Given the description of an element on the screen output the (x, y) to click on. 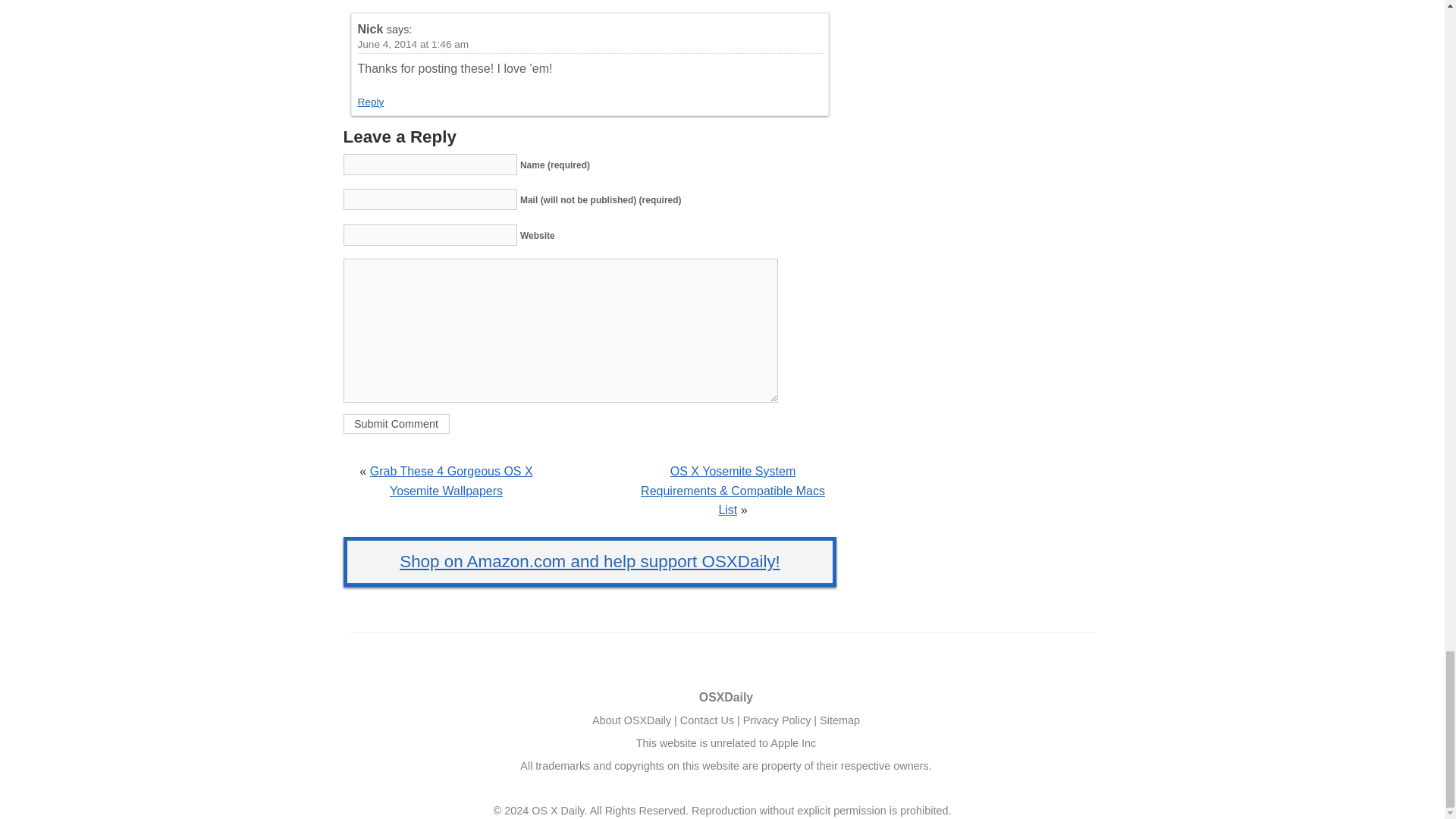
Submit Comment (395, 424)
